Given the description of an element on the screen output the (x, y) to click on. 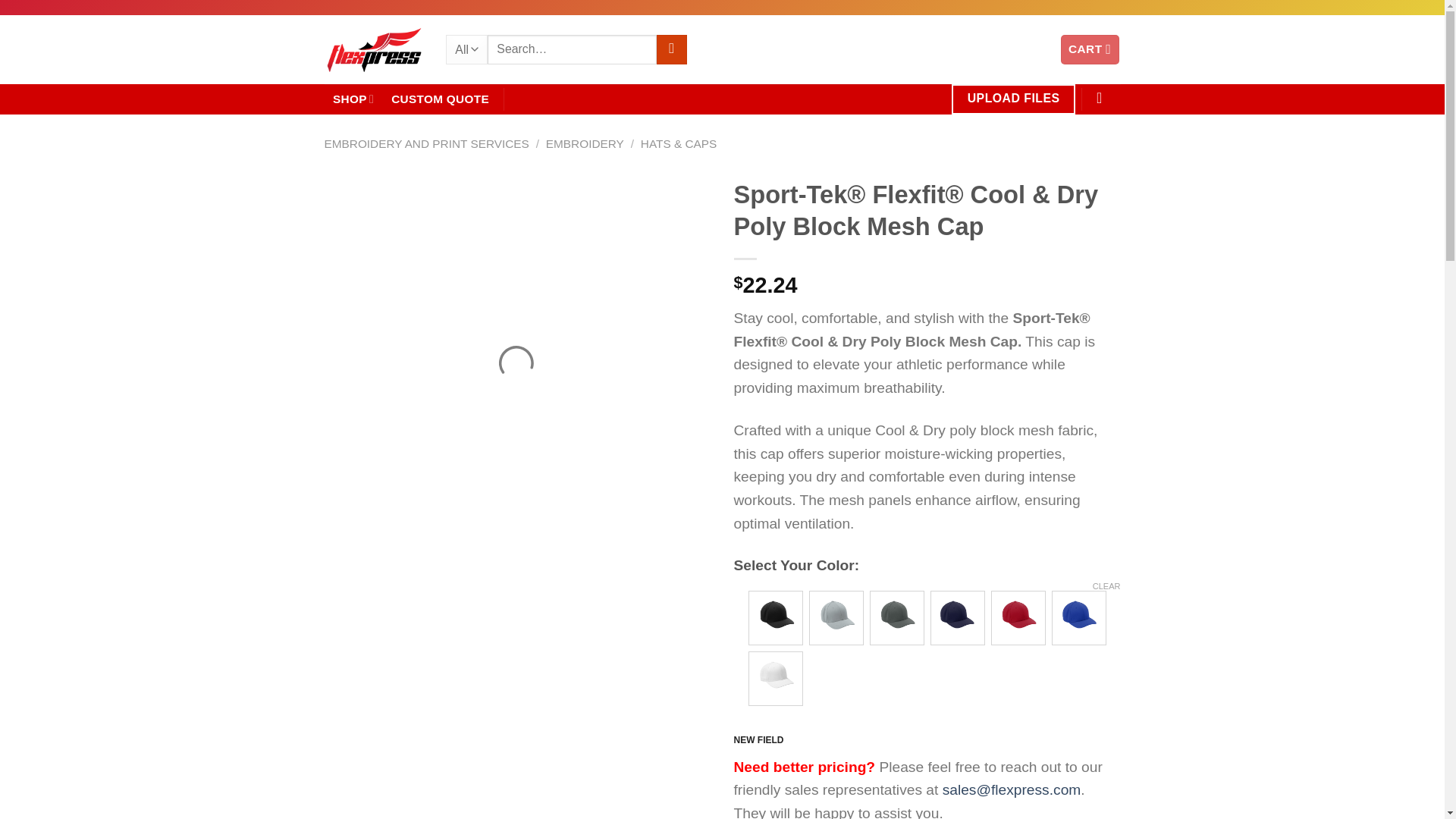
EMBROIDERY (585, 143)
White (775, 678)
CLEAR (1107, 585)
EMBROIDERY AND PRINT SERVICES (426, 143)
True Navy (957, 617)
Search (671, 50)
Magnet (896, 617)
CUSTOM QUOTE (439, 99)
Black (775, 617)
SHOP (353, 99)
True Red (1018, 617)
Flexpress - We're more than Duplicates (373, 49)
CART (1090, 49)
Grey Heather (836, 617)
Cart (1090, 49)
